Given the description of an element on the screen output the (x, y) to click on. 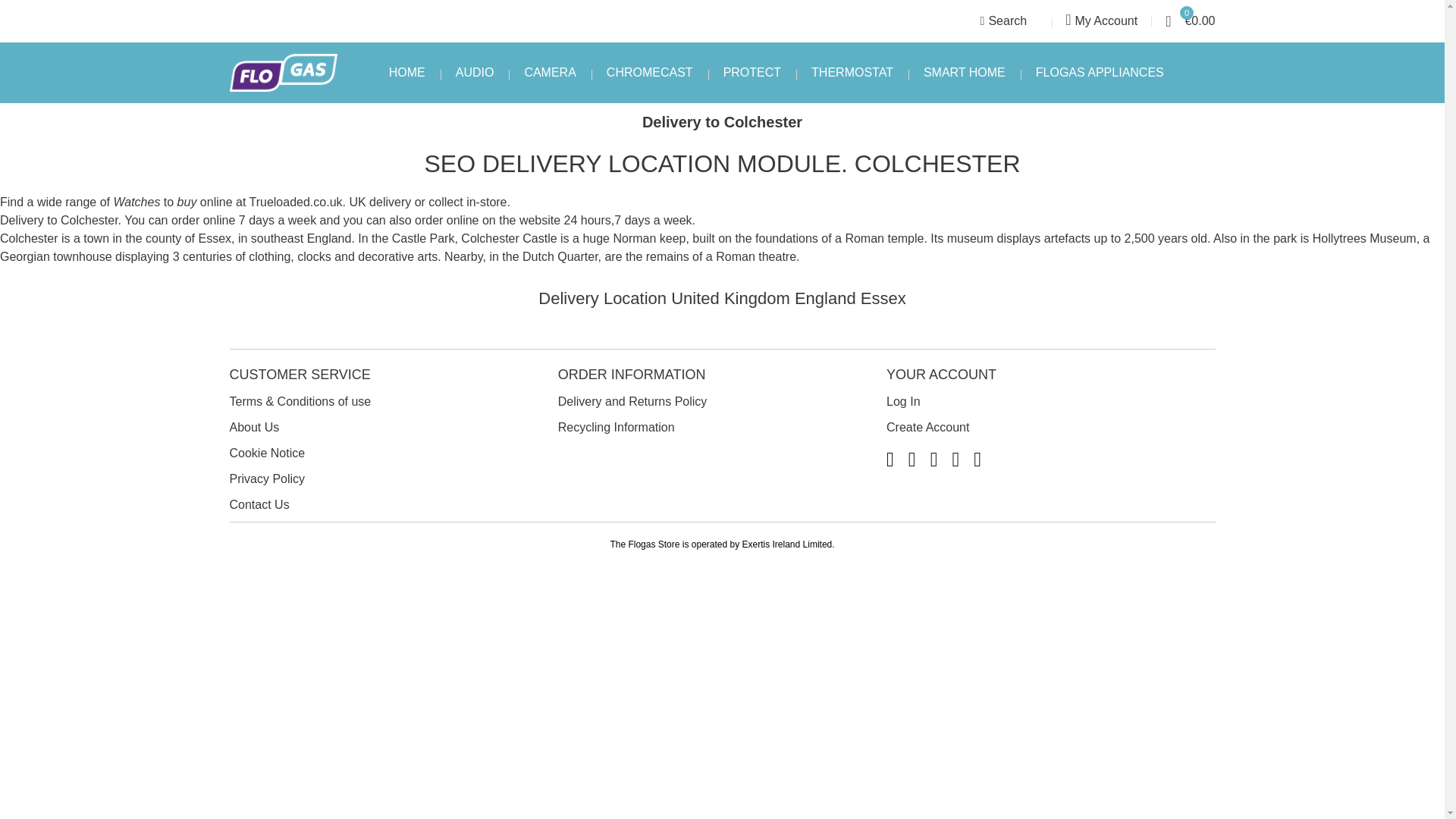
CAMERA (549, 72)
My Account (1101, 21)
CHROMECAST (650, 72)
HOME (406, 72)
SMART HOME (964, 72)
Essex (882, 298)
FLOGAS APPLIANCES (1099, 72)
Recycling Information (616, 427)
Delivery Location (602, 298)
About Us (253, 427)
Contact Us (258, 504)
